Given the description of an element on the screen output the (x, y) to click on. 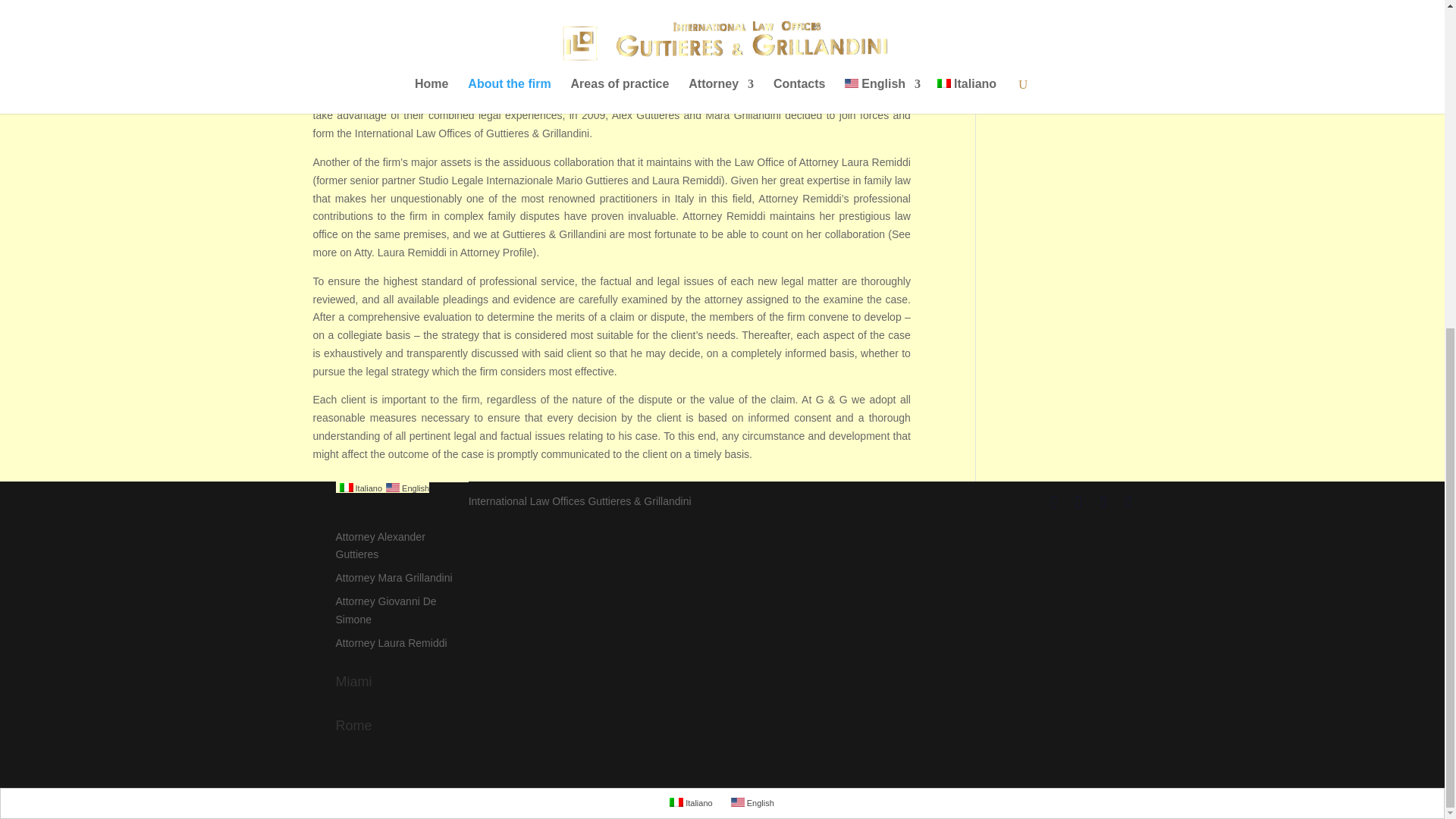
Attorney Laura Remiddi (390, 643)
Italiano (346, 487)
Attorney Alexander Guttieres (379, 545)
 Italiano (357, 487)
 English (752, 802)
Attorney Mara Grillandini (392, 577)
English (391, 487)
 Italiano (691, 802)
 English (405, 487)
Attorney Giovanni De Simone (384, 610)
Italiano (675, 801)
English (737, 801)
